Given the description of an element on the screen output the (x, y) to click on. 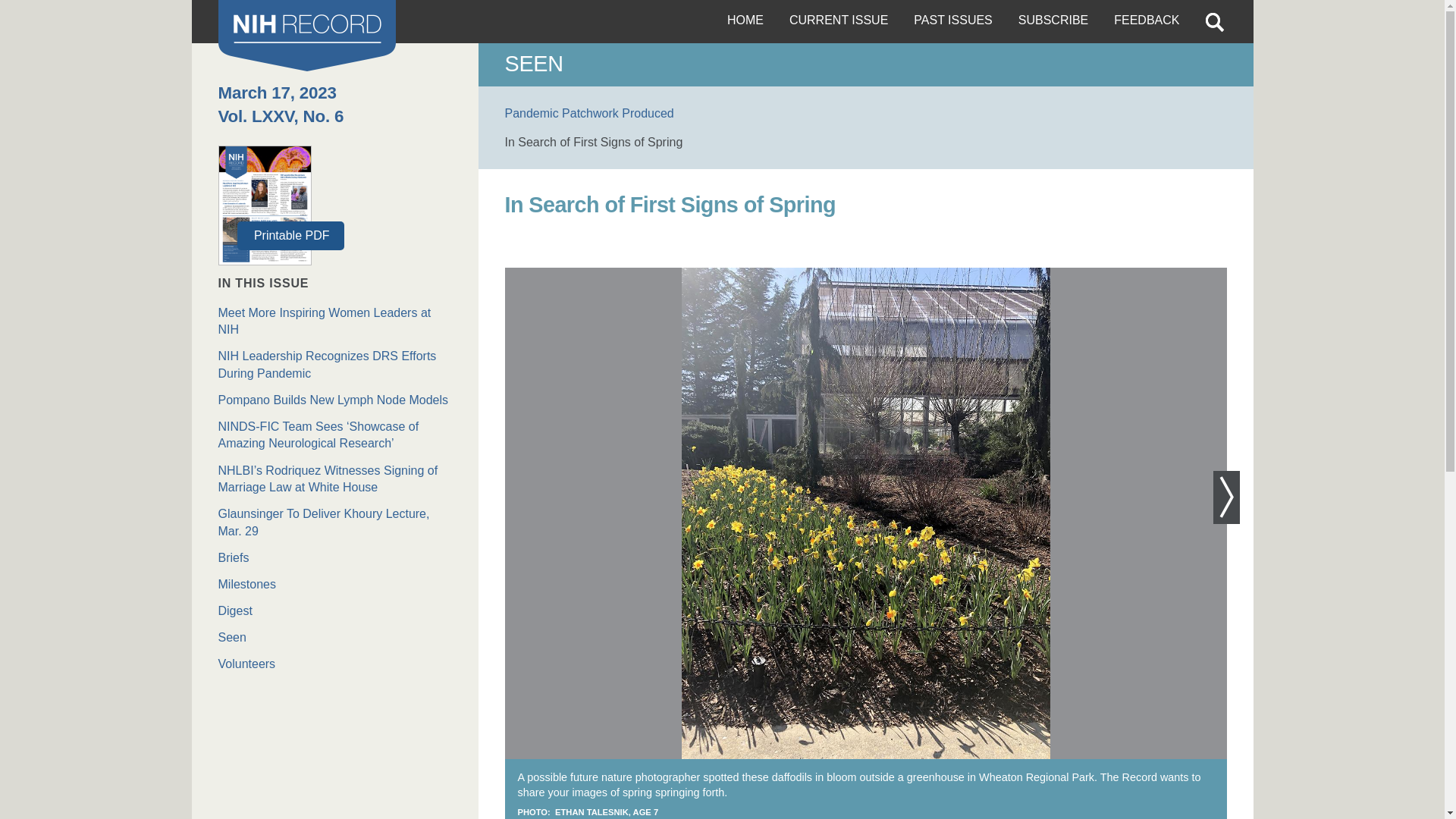
Pompano Builds New Lymph Node Models (334, 400)
Vol. LXXV, No. 6 (280, 116)
In Search of First Signs of Spring (593, 141)
Briefs (334, 557)
Pandemic Patchwork Produced (589, 113)
Seen (334, 637)
NIH Record - National Institutes of Health (307, 35)
Milestones (334, 584)
PAST ISSUES (952, 21)
